Given the description of an element on the screen output the (x, y) to click on. 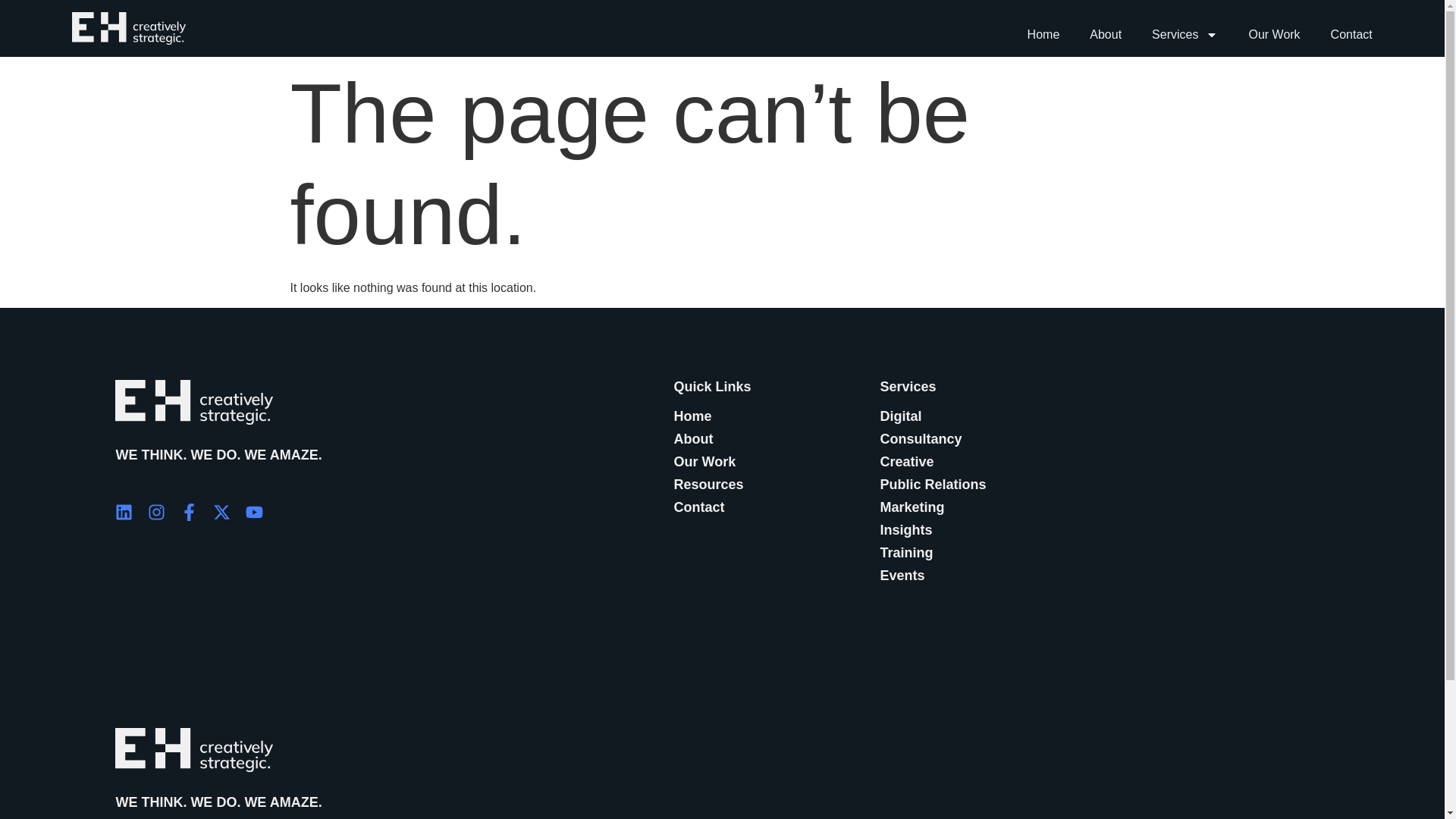
Our Work (1273, 35)
Services (1184, 35)
About (1105, 35)
Contact (1351, 35)
Home (1043, 35)
